Given the description of an element on the screen output the (x, y) to click on. 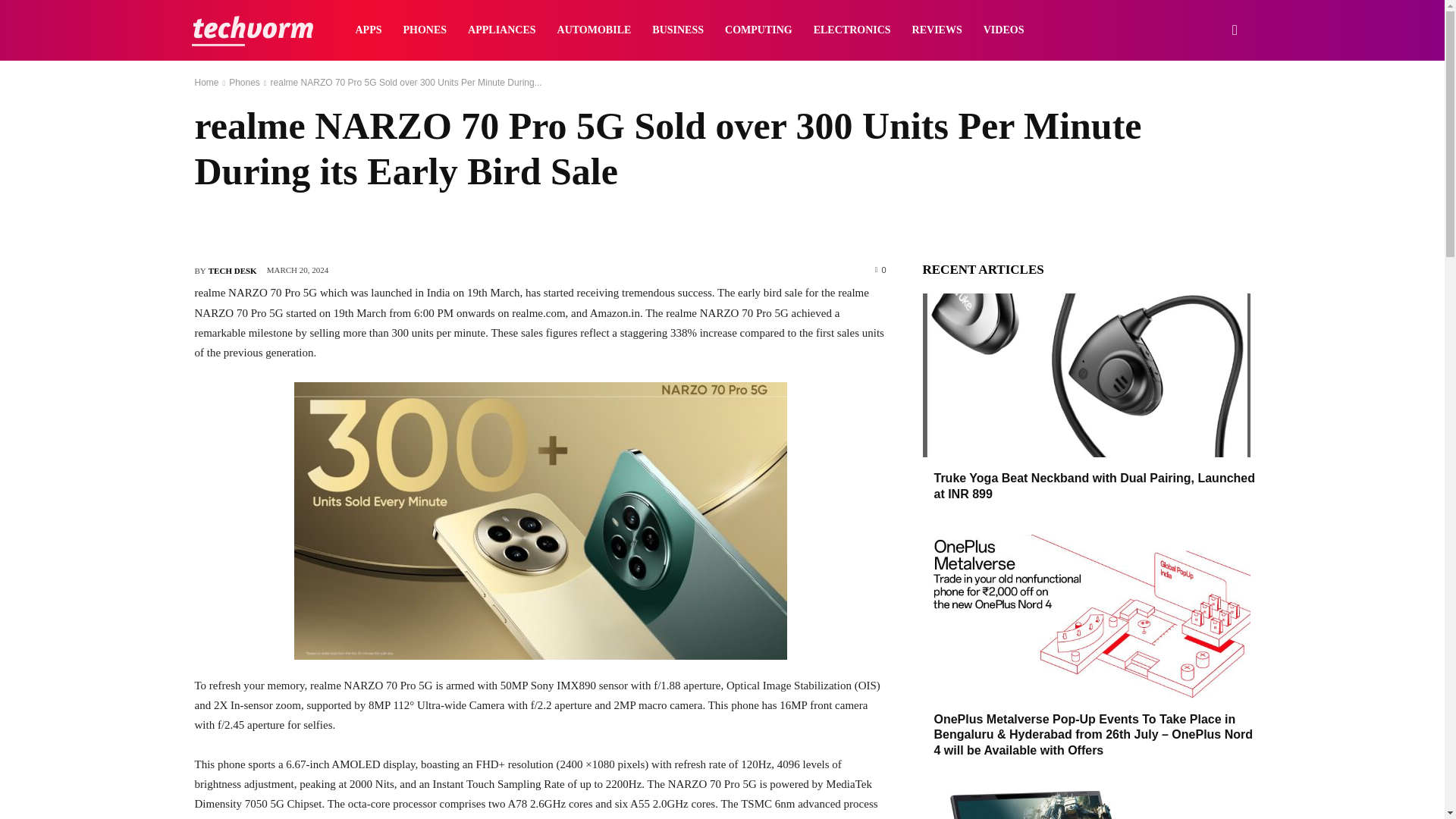
Search (1210, 102)
Home (205, 81)
ELECTRONICS (852, 30)
Technology news, as it happens! (251, 30)
REVIEWS (936, 30)
COMPUTING (758, 30)
TECH DESK (232, 270)
PHONES (425, 30)
VIDEOS (1003, 30)
BUSINESS (678, 30)
APPLIANCES (501, 30)
Phones (244, 81)
TechVorm (251, 30)
0 (880, 268)
View all posts in Phones (244, 81)
